Given the description of an element on the screen output the (x, y) to click on. 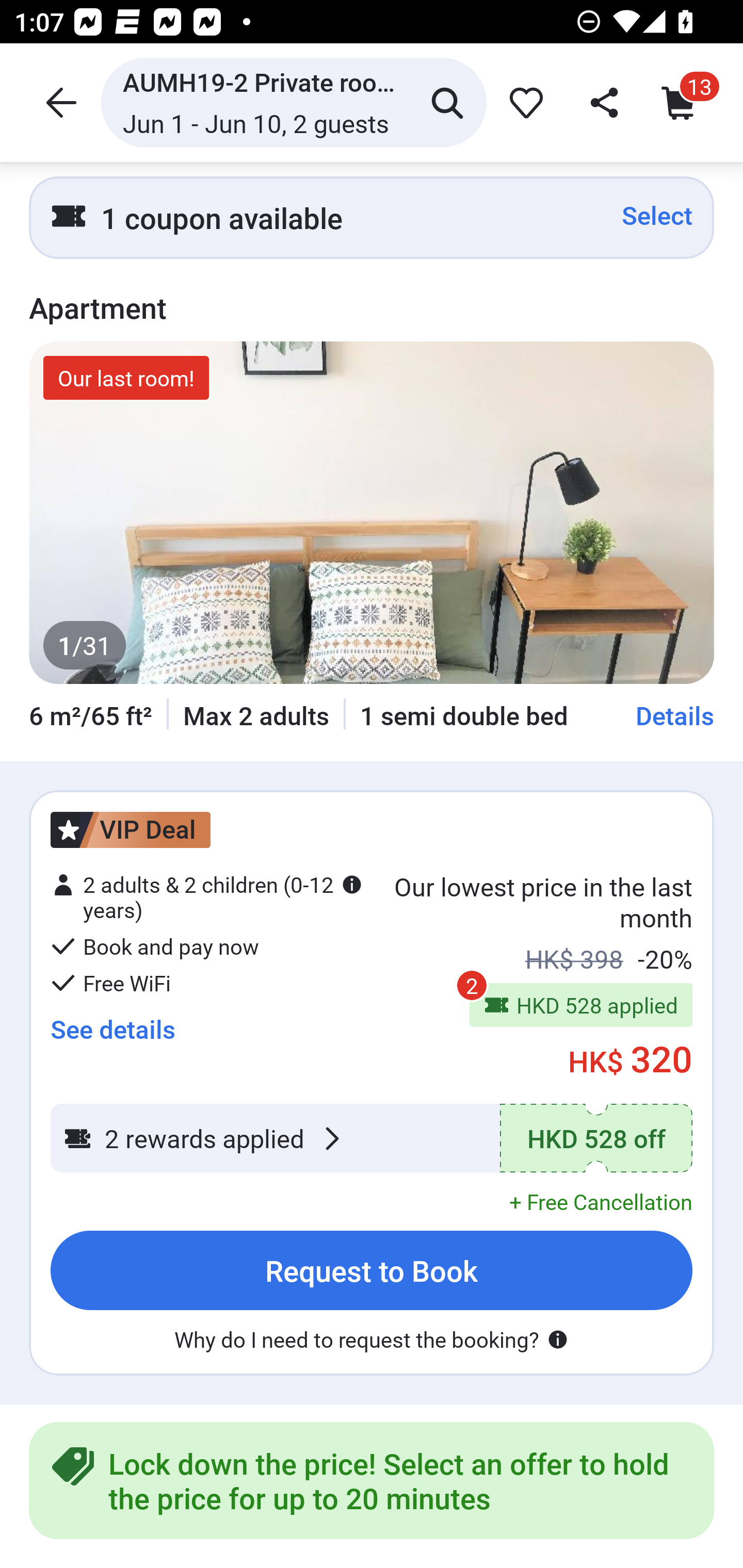
header icon (59, 102)
favorite_icon 0dbe6efb (522, 102)
share_header_icon (601, 102)
Cart icon cart_item_count 13 (683, 102)
Select (656, 215)
1 coupon available Select (371, 217)
image (371, 512)
Details (674, 715)
2 adults & 2 children (0-12 years) (206, 896)
See details (112, 1029)
2 rewards applied HKD 528 off (371, 1138)
Request to Book (371, 1270)
Why do I need to request the booking? (371, 1339)
